Given the description of an element on the screen output the (x, y) to click on. 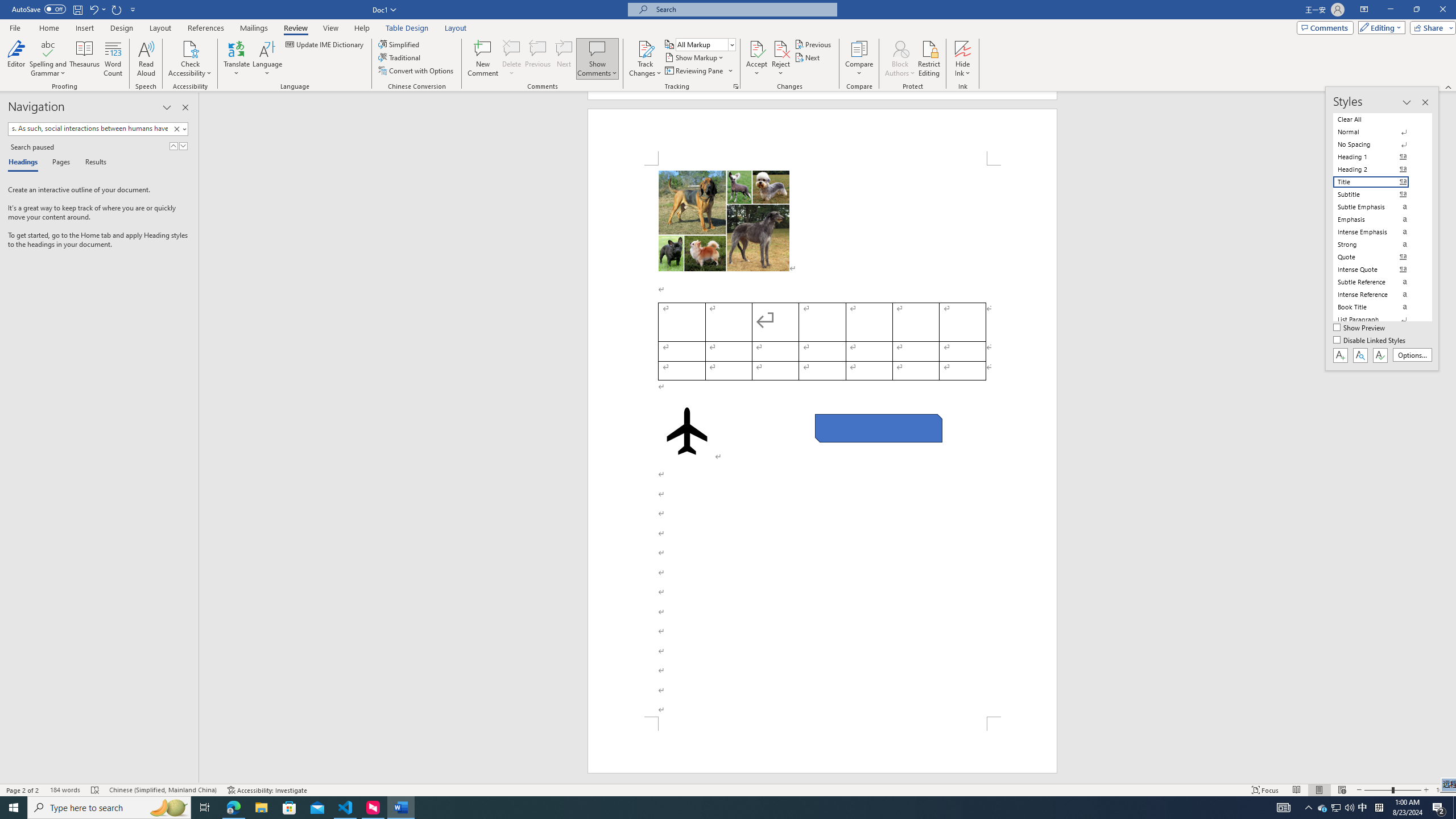
Compare (859, 58)
Accept (756, 58)
Reviewing Pane (694, 69)
Block Authors (900, 48)
Show Markup (695, 56)
Clear All (1377, 119)
Track Changes (644, 48)
Translate (236, 58)
